Given the description of an element on the screen output the (x, y) to click on. 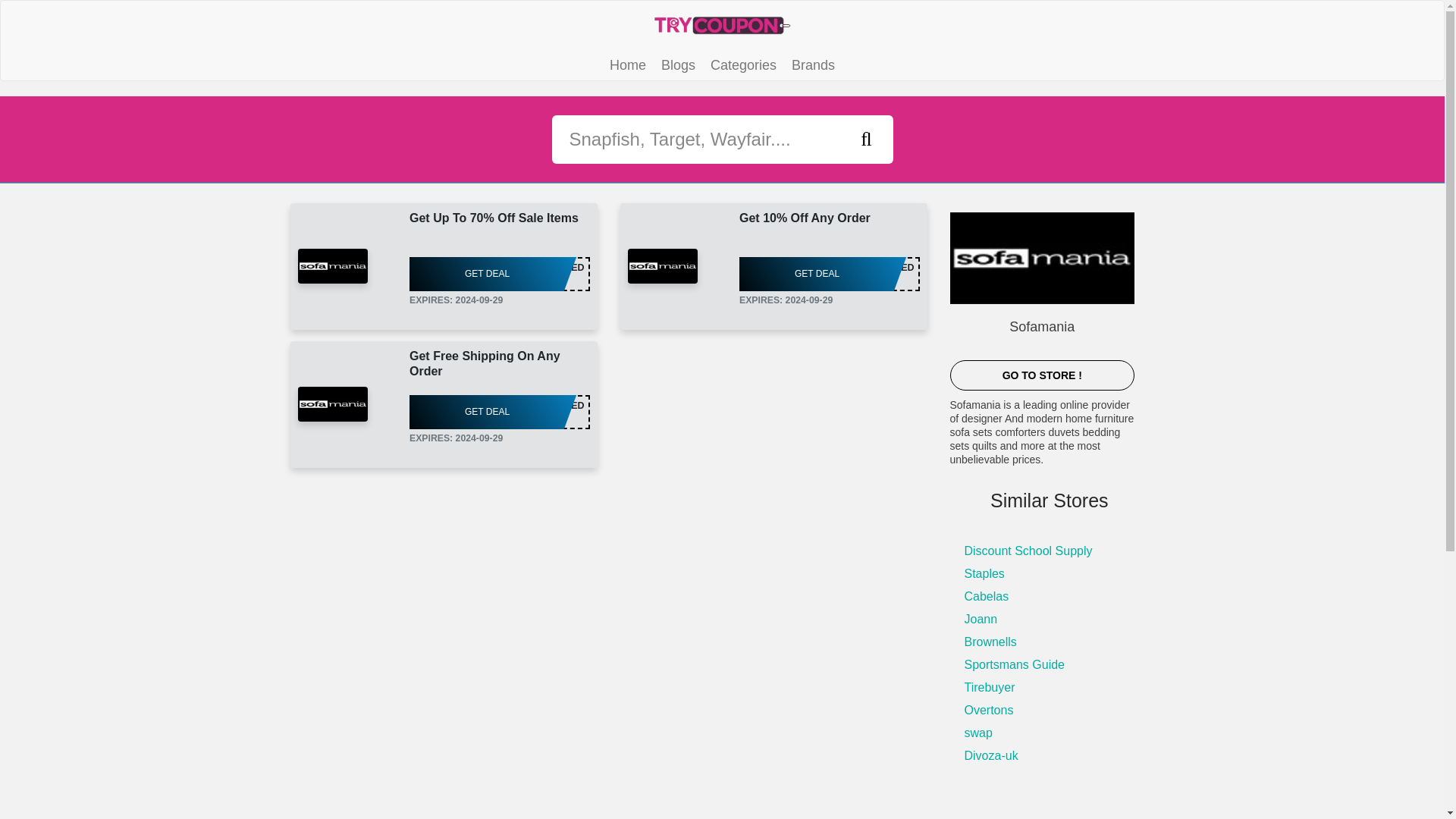
Home (828, 274)
Staples (628, 64)
swap (983, 573)
GO TO STORE ! (977, 732)
Divoza-uk (1041, 375)
Tirebuyer (990, 755)
GET DEAL (988, 686)
Joann (810, 274)
Overtons (980, 618)
